Given the description of an element on the screen output the (x, y) to click on. 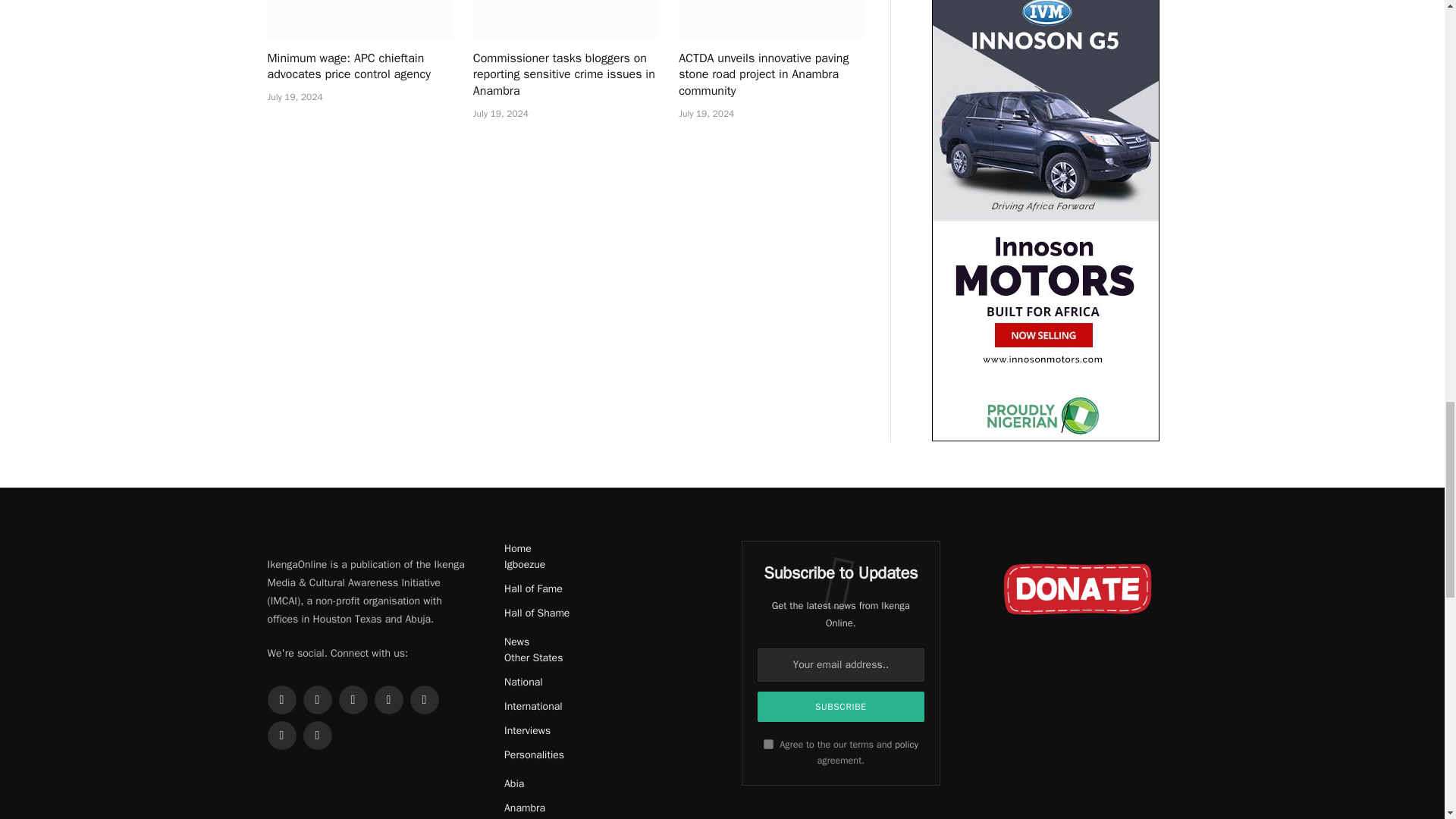
on (767, 744)
Subscribe (840, 706)
